Given the description of an element on the screen output the (x, y) to click on. 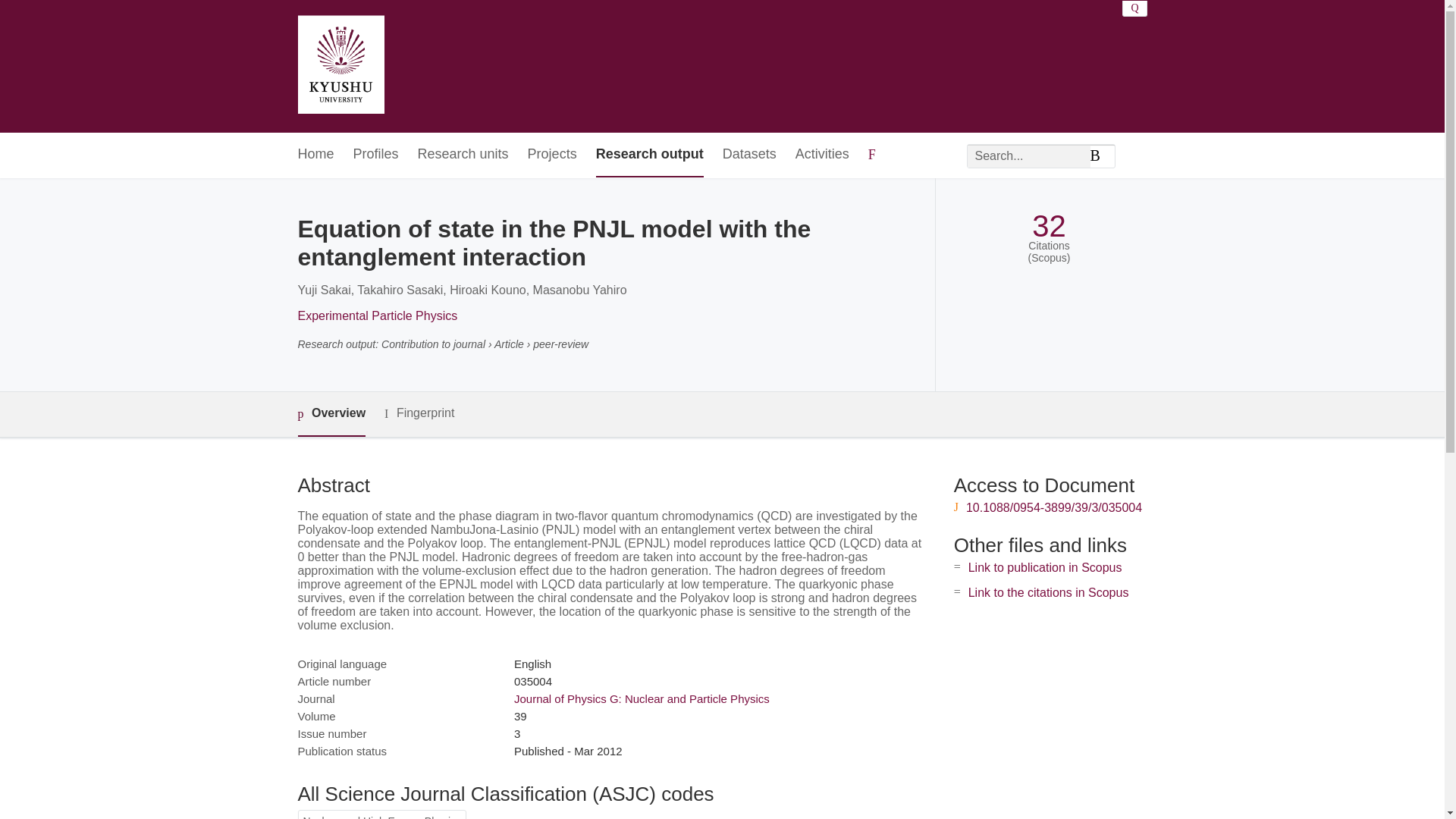
Overview (331, 414)
Fingerprint (419, 413)
Projects (551, 154)
Link to publication in Scopus (1045, 567)
Research units (462, 154)
Datasets (749, 154)
Experimental Particle Physics (377, 315)
Activities (821, 154)
Link to the citations in Scopus (1048, 592)
